Given the description of an element on the screen output the (x, y) to click on. 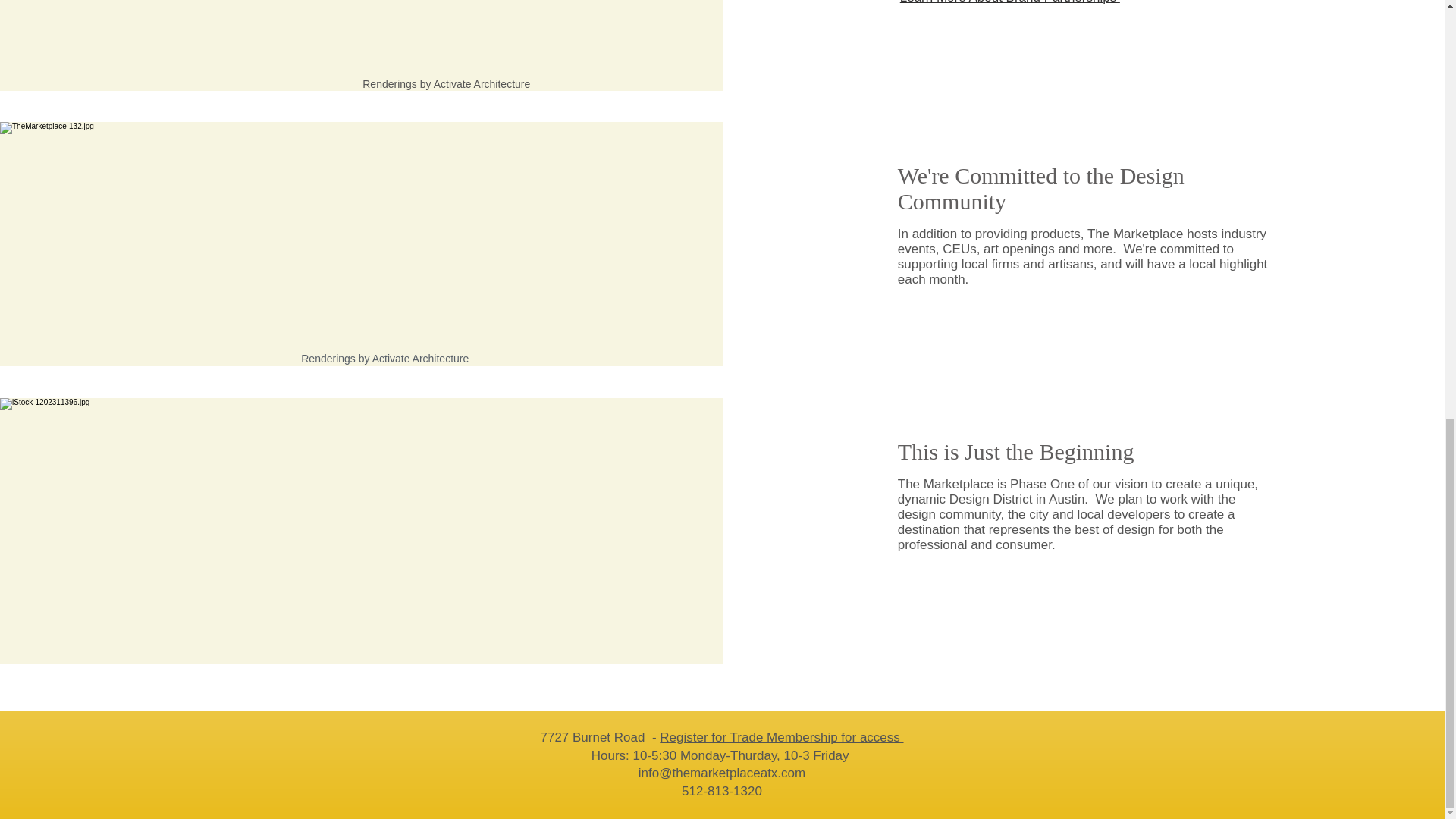
Learn More About Brand Partnerships  (1009, 2)
Register for Trade Membership for access  (780, 737)
Activate Architecture (420, 358)
Activate Architecture (482, 83)
Activate Architecture (260, 46)
